Given the description of an element on the screen output the (x, y) to click on. 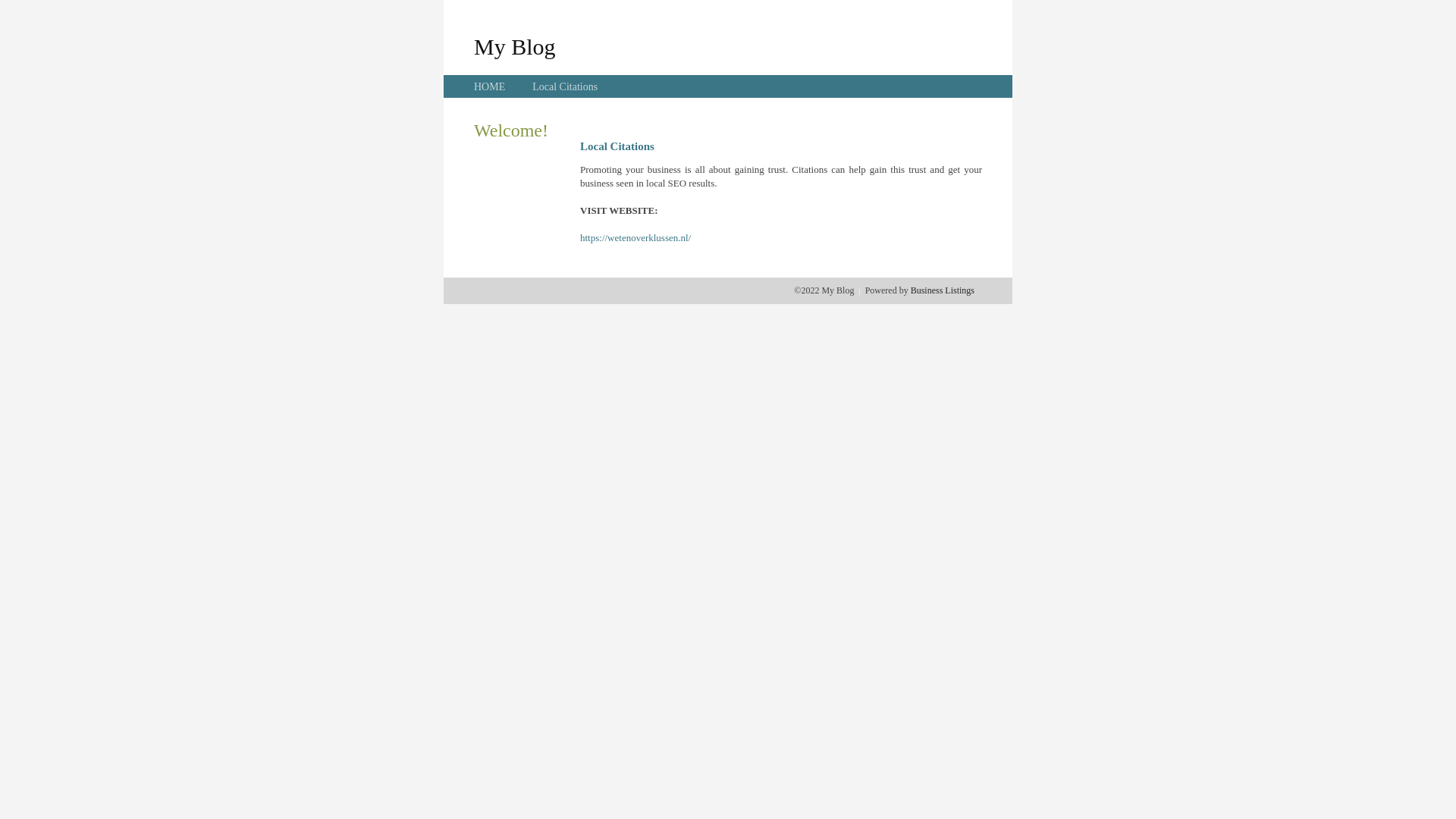
Business Listings Element type: text (942, 290)
HOME Element type: text (489, 86)
Local Citations Element type: text (564, 86)
My Blog Element type: text (514, 46)
https://wetenoverklussen.nl/ Element type: text (635, 237)
